Given the description of an element on the screen output the (x, y) to click on. 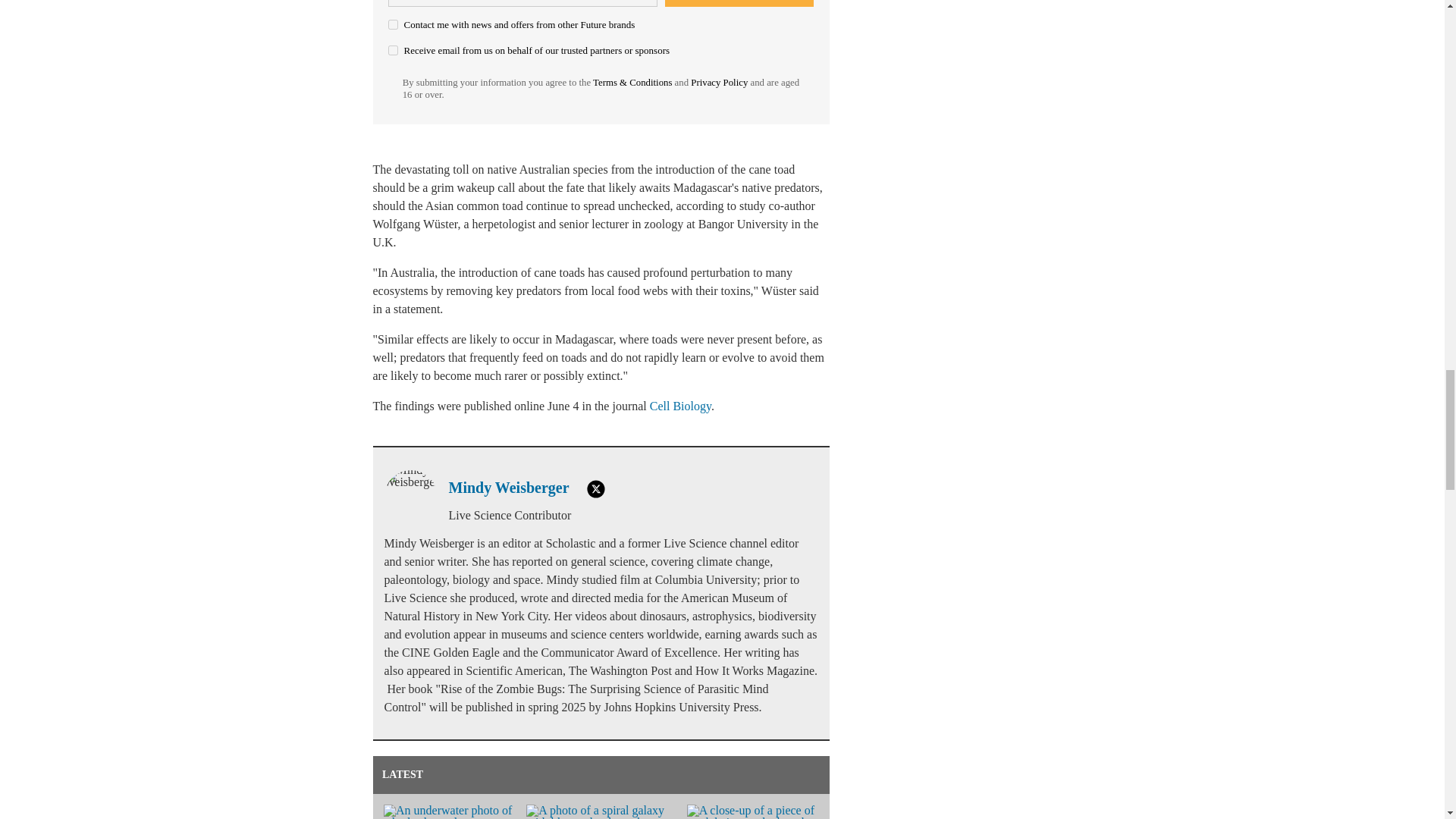
on (392, 50)
on (392, 24)
Sign me up (739, 3)
